Given the description of an element on the screen output the (x, y) to click on. 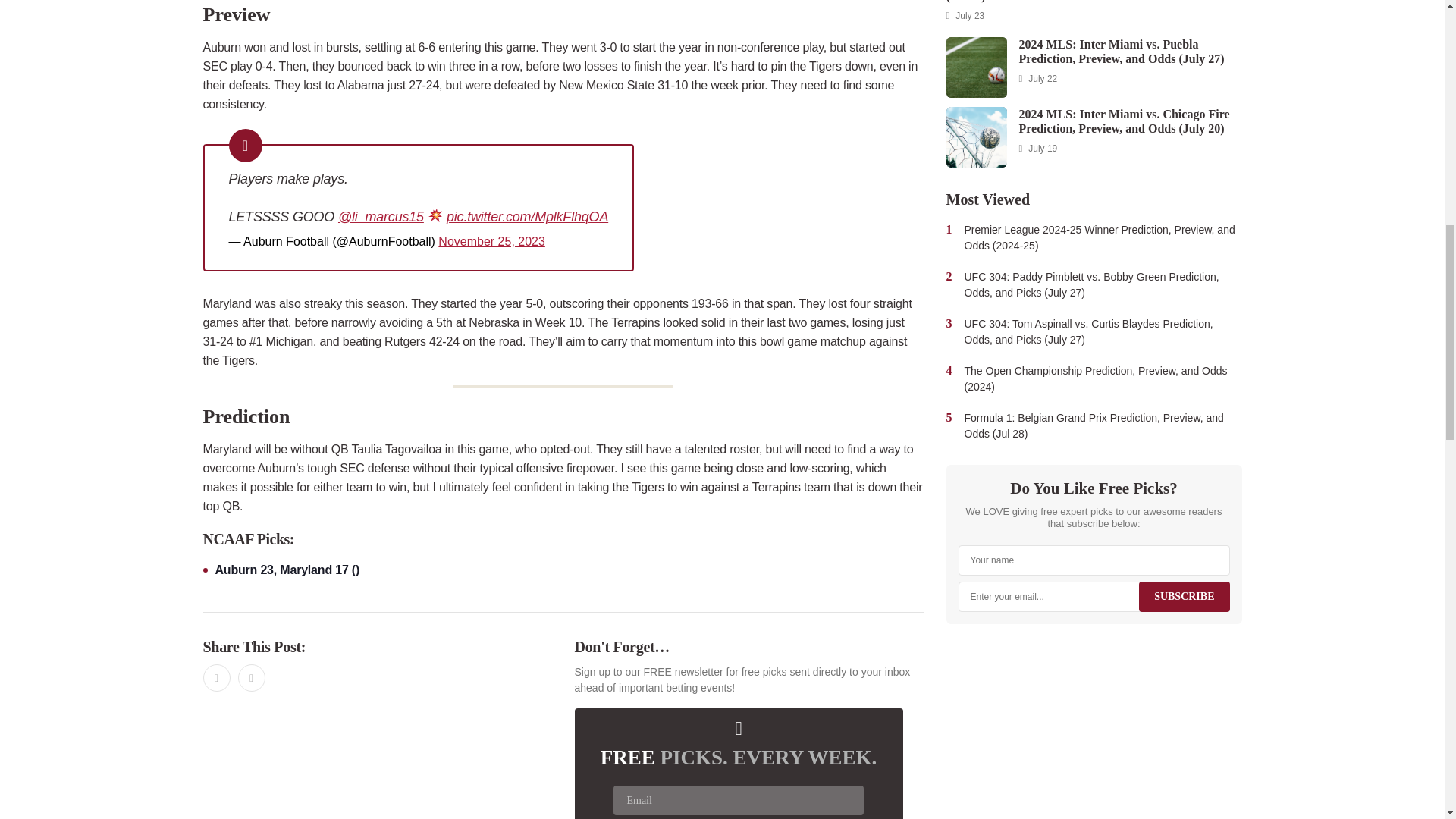
Subscribe (1183, 595)
